Given the description of an element on the screen output the (x, y) to click on. 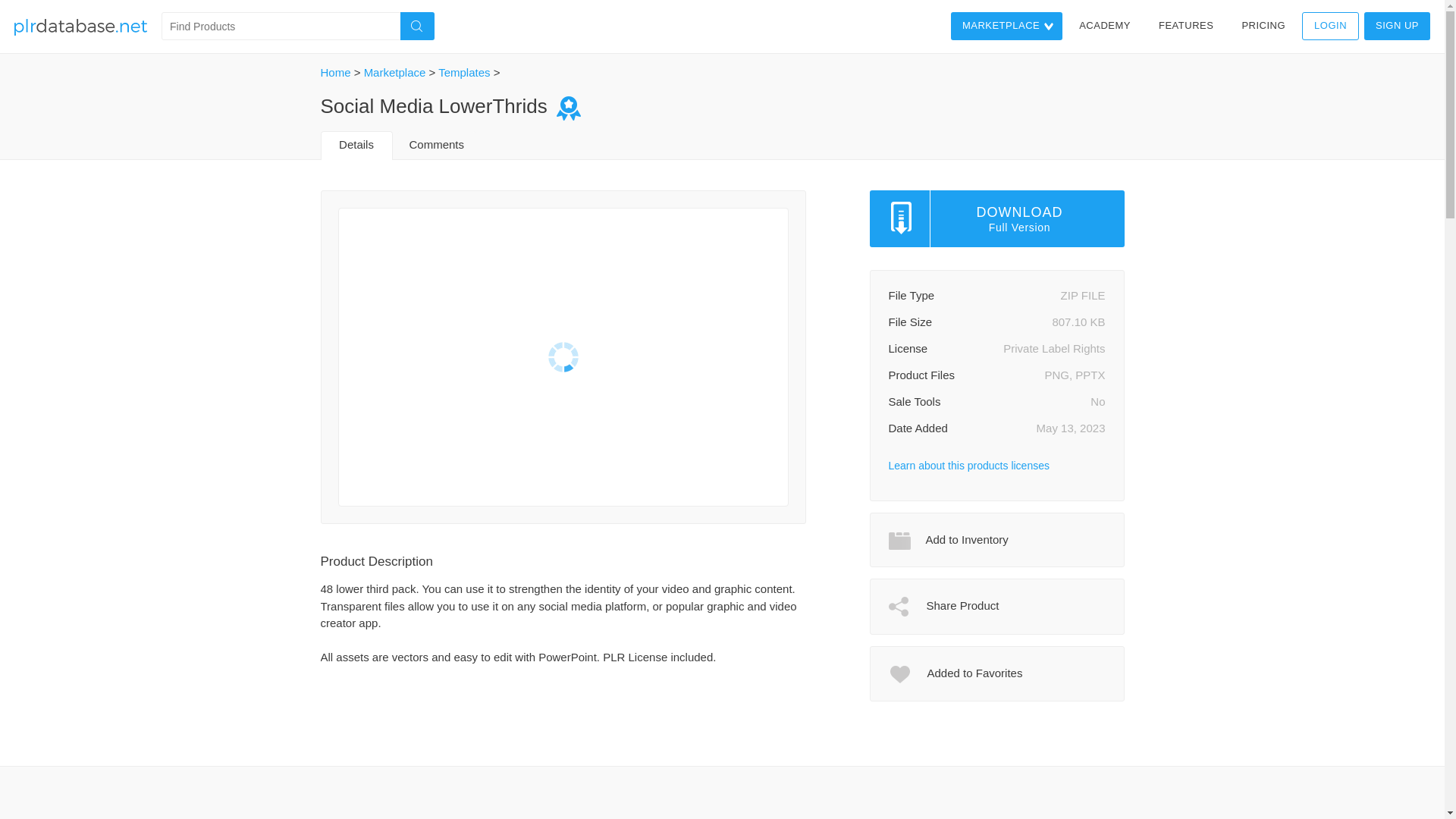
Features (1185, 26)
Search (416, 26)
PLR Database (80, 27)
ACADEMY (1104, 26)
FEATURES (1185, 26)
Login (1329, 26)
Marketplace (1006, 26)
PLR Database (80, 27)
Search (416, 26)
Sign Up (1396, 26)
